Given the description of an element on the screen output the (x, y) to click on. 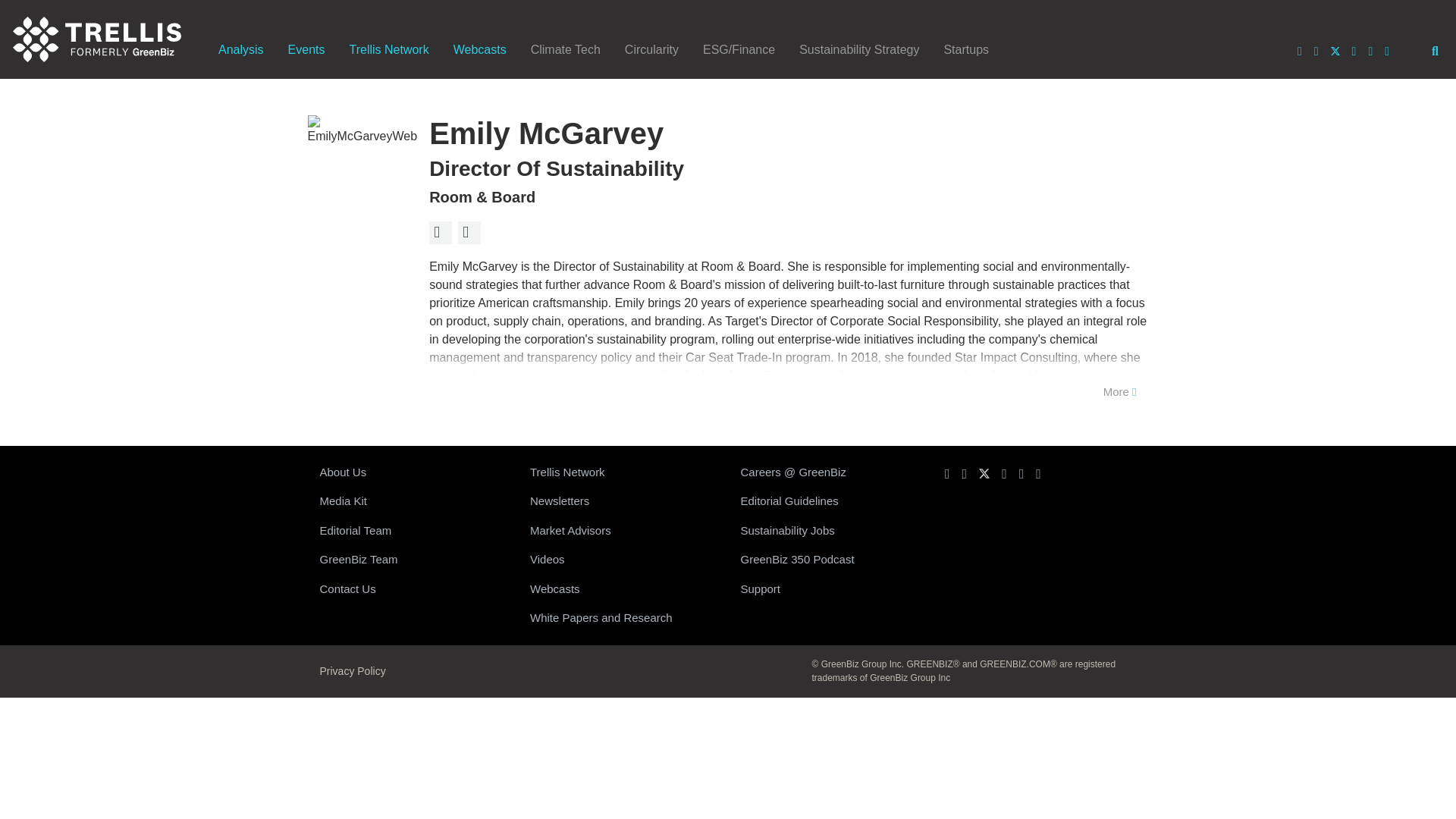
Webcasts (479, 49)
Sustainability Strategy (859, 49)
About Us (412, 472)
Events (306, 49)
Trellis Network (388, 49)
Startups (966, 49)
This is a footer link. (412, 559)
Analysis (241, 49)
More (1119, 392)
Circularity (651, 49)
Emily McGarvey linkedin (469, 232)
Information on GreenBiz Peer Network Offerings (623, 472)
About GreenBiz Group (412, 472)
